Given the description of an element on the screen output the (x, y) to click on. 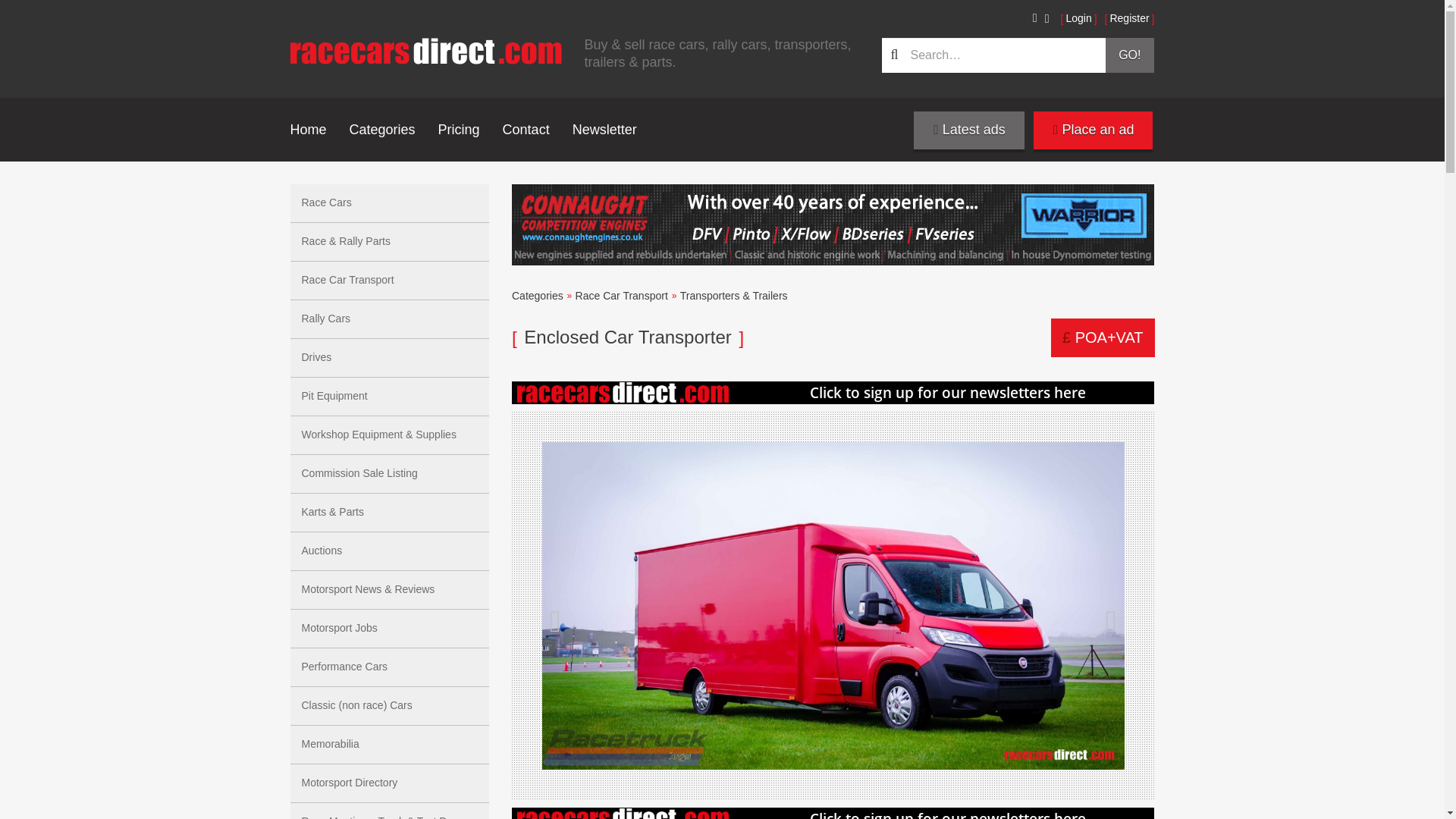
Home (308, 129)
Categories (537, 295)
GO! (1129, 54)
Connaught Competition Engines (833, 224)
Pricing (459, 129)
Categories (381, 129)
sign up (833, 813)
Latest ads (969, 130)
Race Car Transport (621, 295)
Place an ad (1093, 130)
Login (1079, 18)
Contact (526, 129)
sign up (833, 392)
Register (1129, 18)
Newsletter (603, 129)
